Given the description of an element on the screen output the (x, y) to click on. 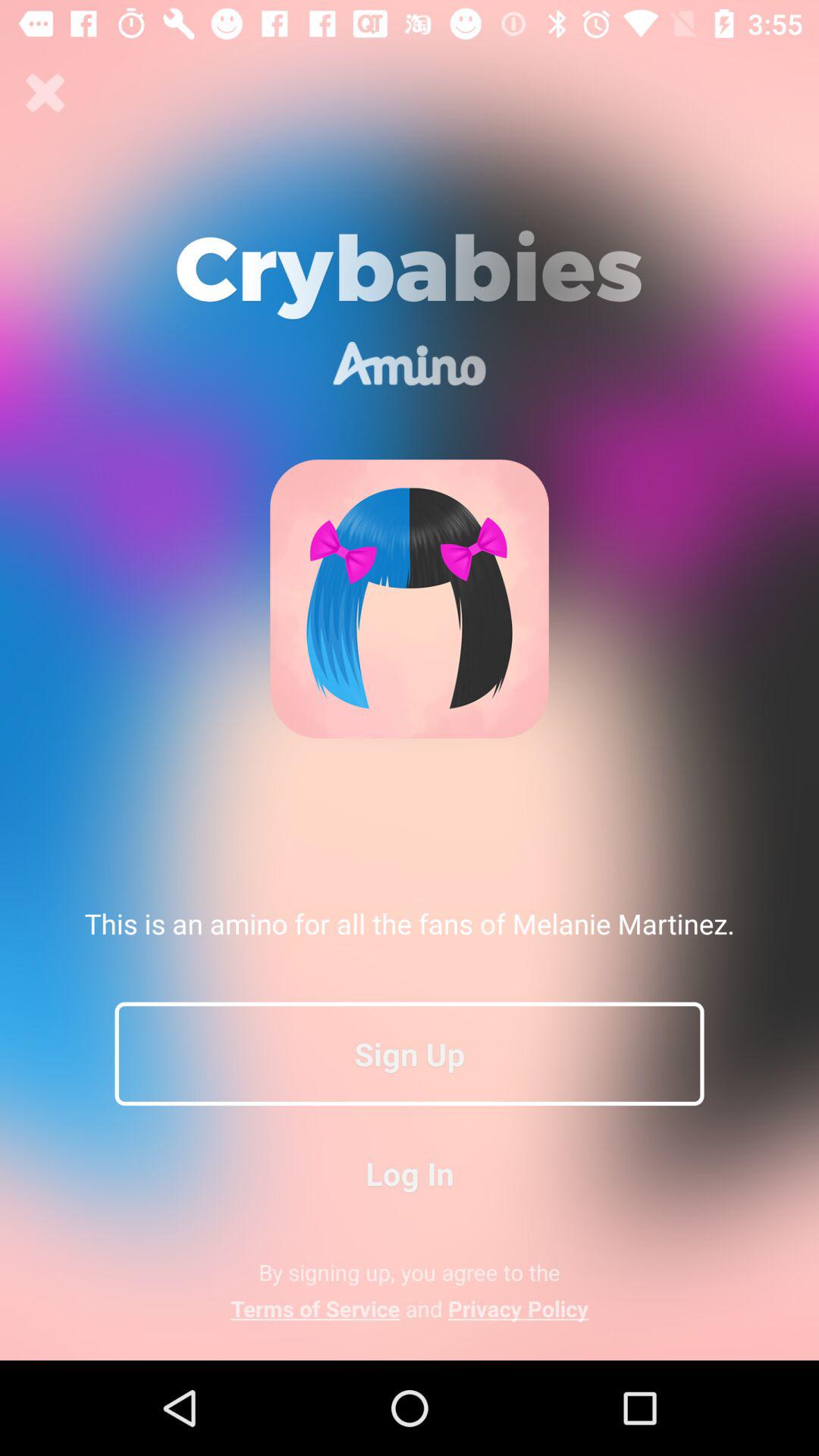
swipe to sign up item (409, 1053)
